Given the description of an element on the screen output the (x, y) to click on. 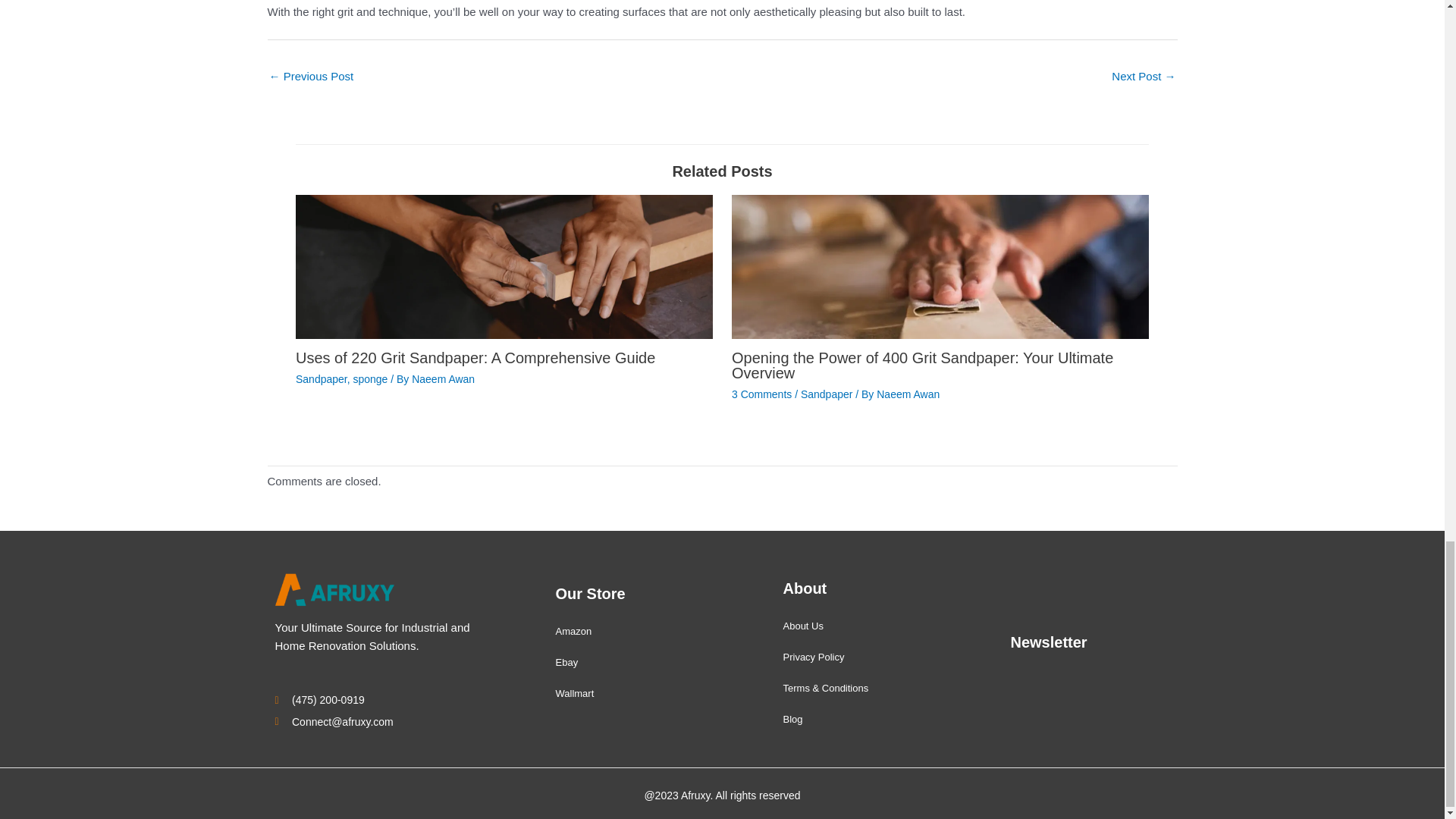
View all posts by Naeem Awan (443, 378)
View all posts by Naeem Awan (907, 394)
